Given the description of an element on the screen output the (x, y) to click on. 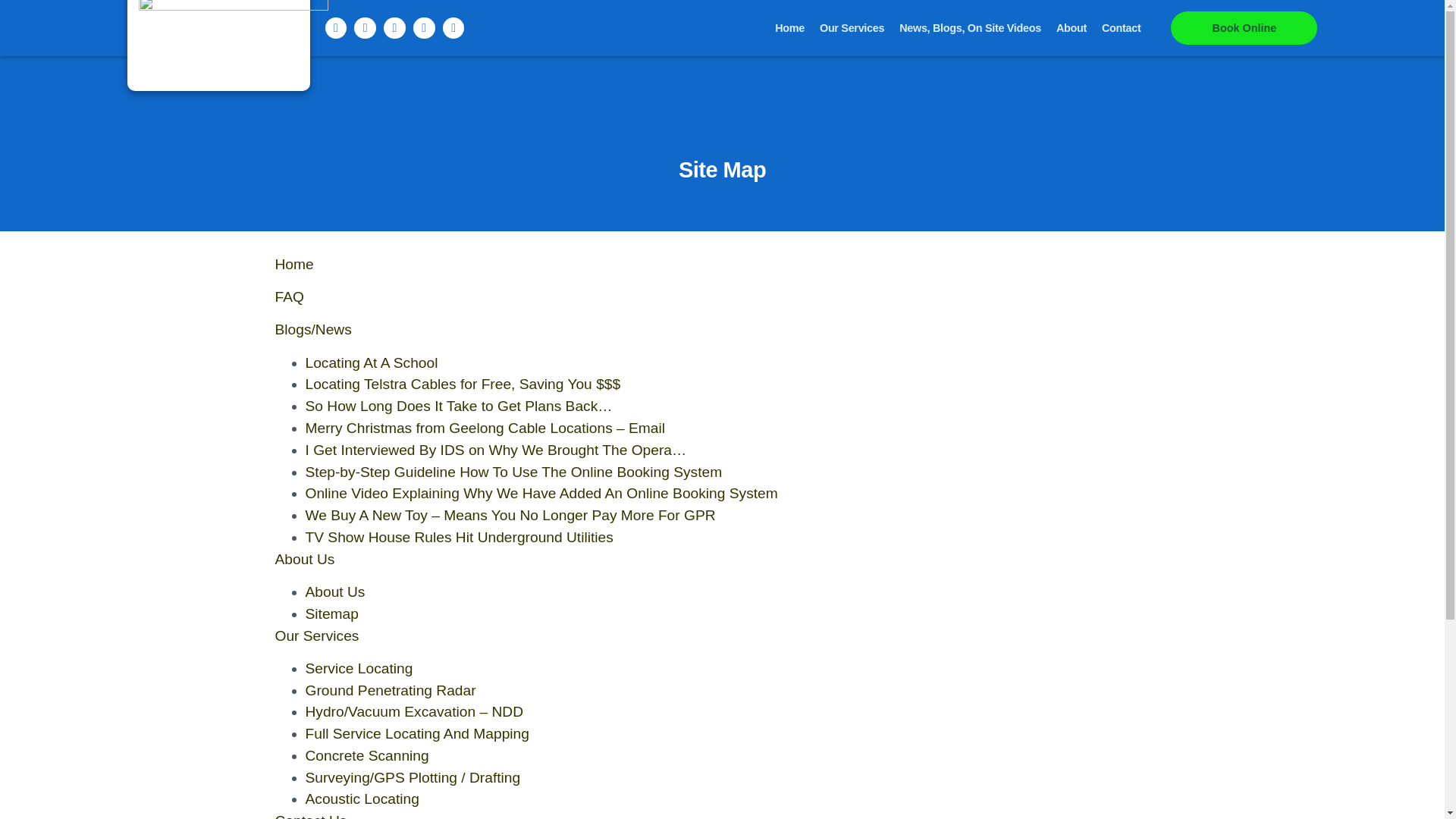
Our Services Element type: text (851, 27)
Ground Penetrating Radar Element type: text (389, 690)
Book Online Element type: text (1243, 27)
FAQ Element type: text (288, 296)
Home Element type: text (293, 264)
About Us Element type: text (304, 559)
Step-by-Step Guideline How To Use The Online Booking System Element type: text (512, 472)
Blogs/News Element type: text (312, 329)
Contact Element type: text (1121, 27)
TV Show House Rules Hit Underground Utilities Element type: text (458, 537)
Locating Telstra Cables for Free, Saving You $$$ Element type: text (462, 384)
Locating At A School Element type: text (370, 362)
Service Locating Element type: text (358, 668)
Full Service Locating And Mapping Element type: text (416, 733)
About Us Element type: text (334, 591)
Acoustic Locating Element type: text (361, 798)
Concrete Scanning Element type: text (366, 755)
Sitemap Element type: text (330, 613)
About Element type: text (1071, 27)
Home Element type: text (789, 27)
Our Services Element type: text (316, 635)
Surveying/GPS Plotting / Drafting Element type: text (412, 777)
News, Blogs, On Site Videos Element type: text (969, 27)
